Given the description of an element on the screen output the (x, y) to click on. 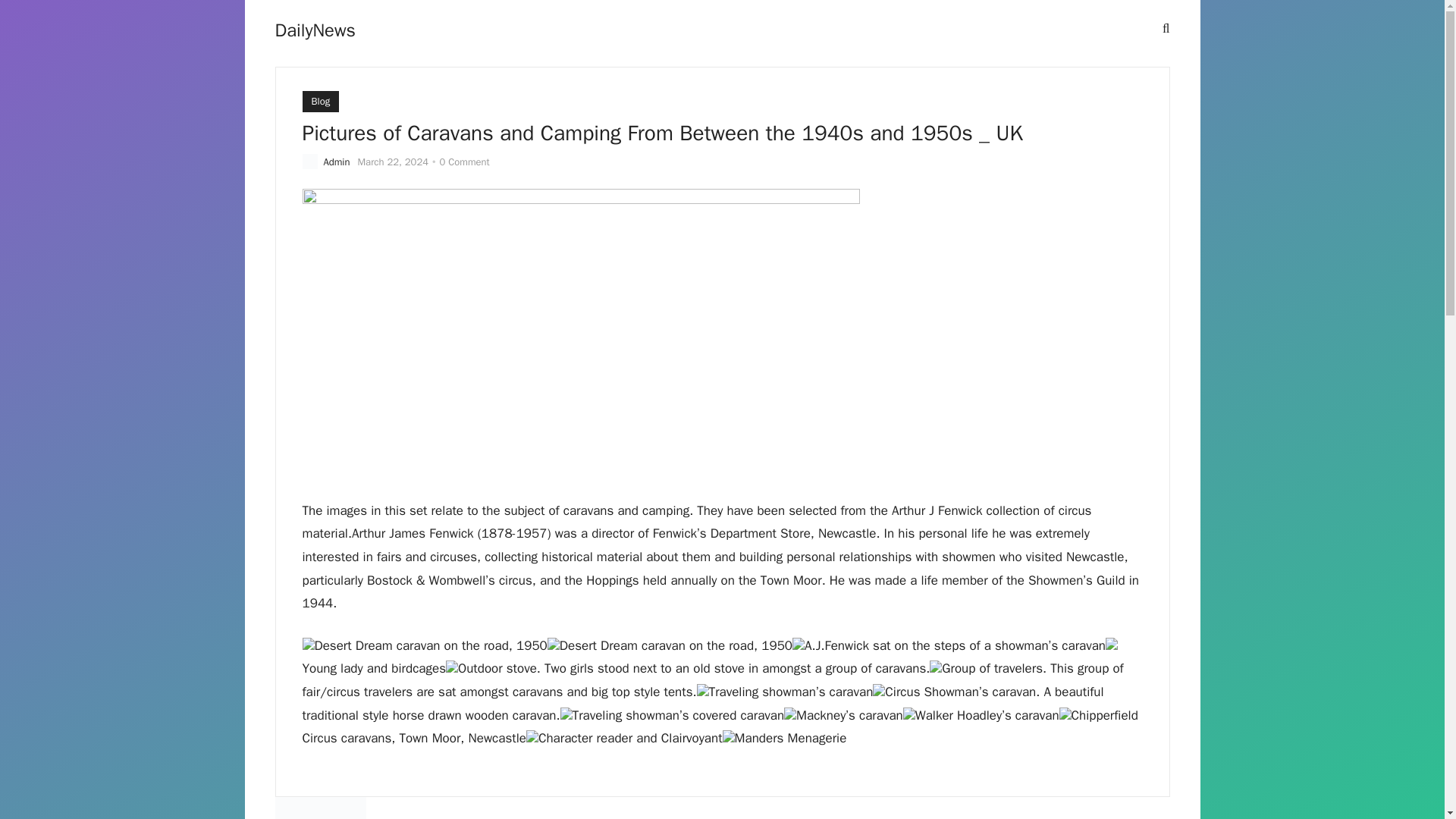
Admin (336, 161)
0 Comment (464, 161)
DailyNews (315, 30)
Blog (320, 101)
Posts by Admin (336, 161)
